Given the description of an element on the screen output the (x, y) to click on. 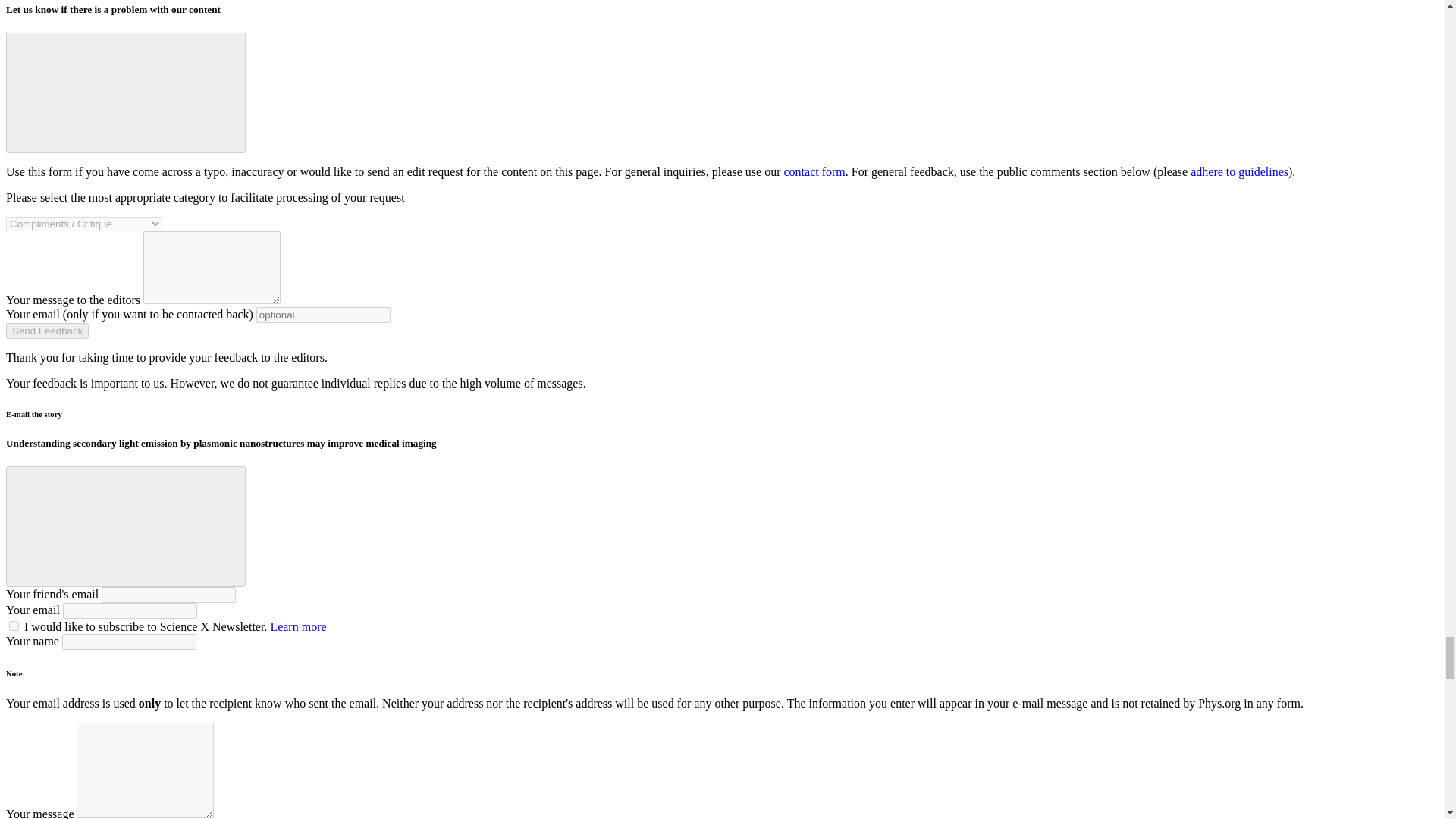
1 (13, 625)
